Given the description of an element on the screen output the (x, y) to click on. 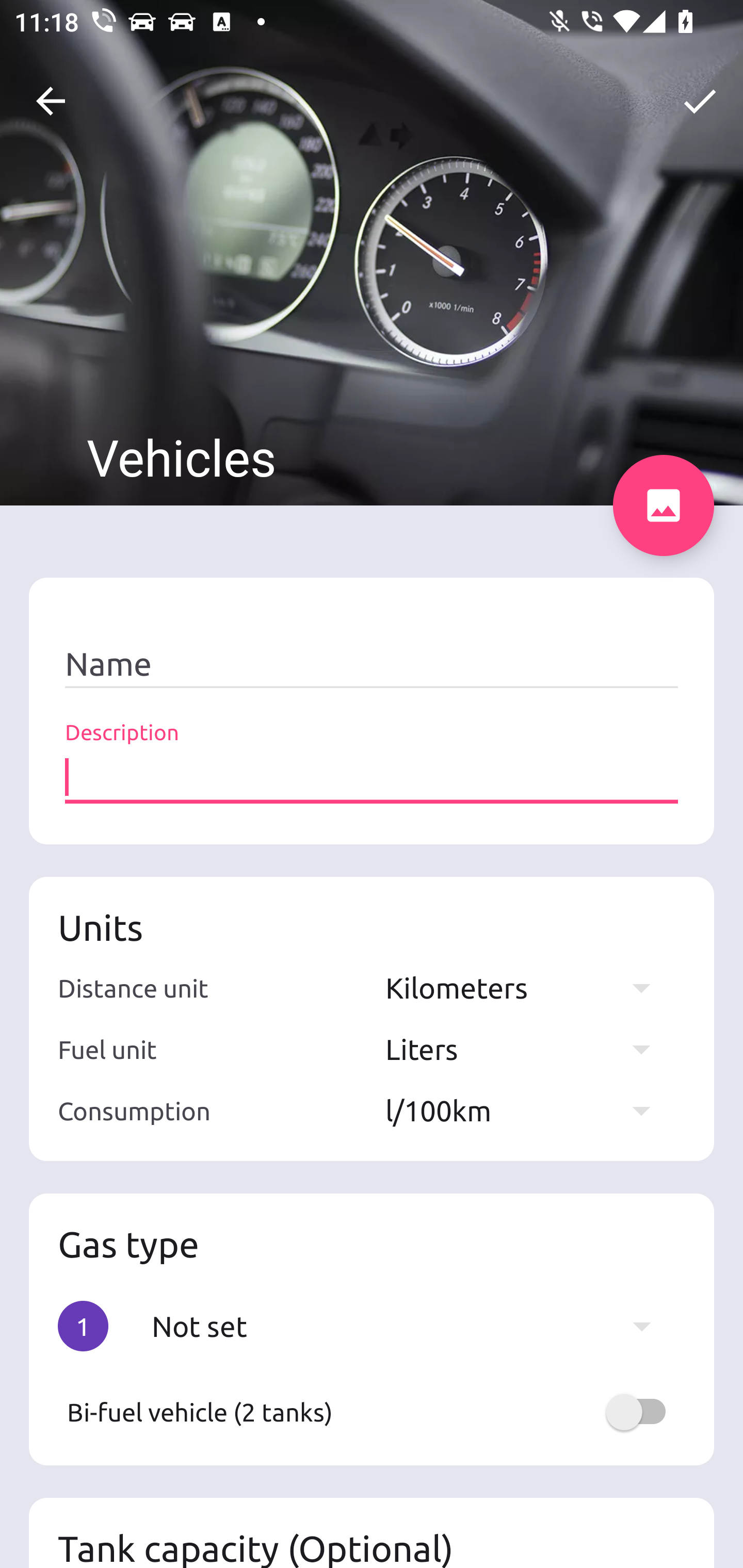
Navigate up (50, 101)
OK (699, 101)
Name (371, 664)
Description (371, 777)
Kilometers (527, 987)
Liters (527, 1048)
l/100km (527, 1110)
Not set (411, 1325)
Bi-fuel vehicle (2 tanks) (371, 1411)
